Given the description of an element on the screen output the (x, y) to click on. 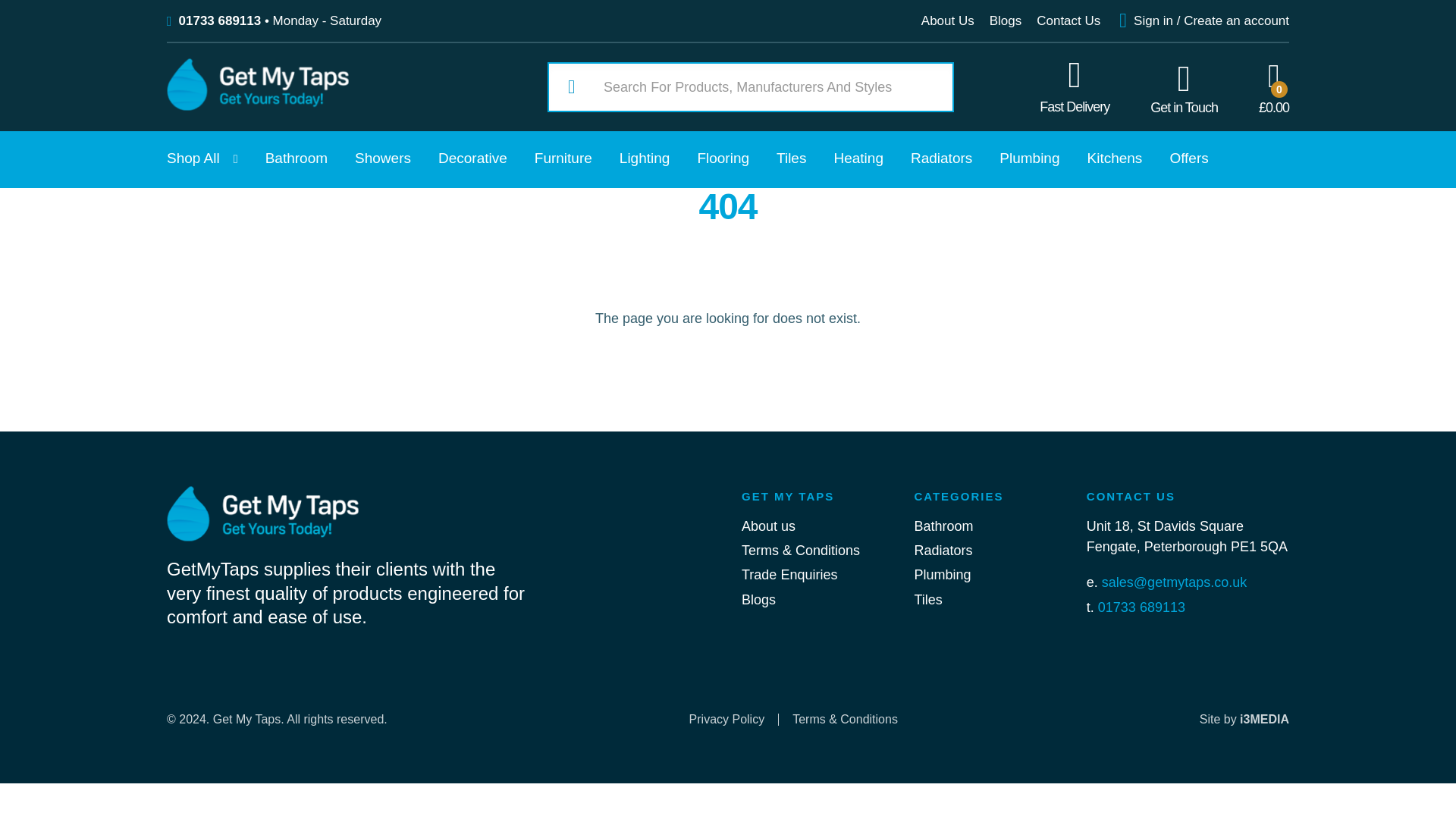
Blogs (1006, 20)
Flooring (723, 159)
01733 689113 (220, 20)
Plumbing (942, 574)
About Us (947, 20)
Radiators (941, 159)
Furniture (563, 159)
Contact Us (1068, 20)
Website by i3MEDIA (1243, 718)
Blogs (758, 599)
